Given the description of an element on the screen output the (x, y) to click on. 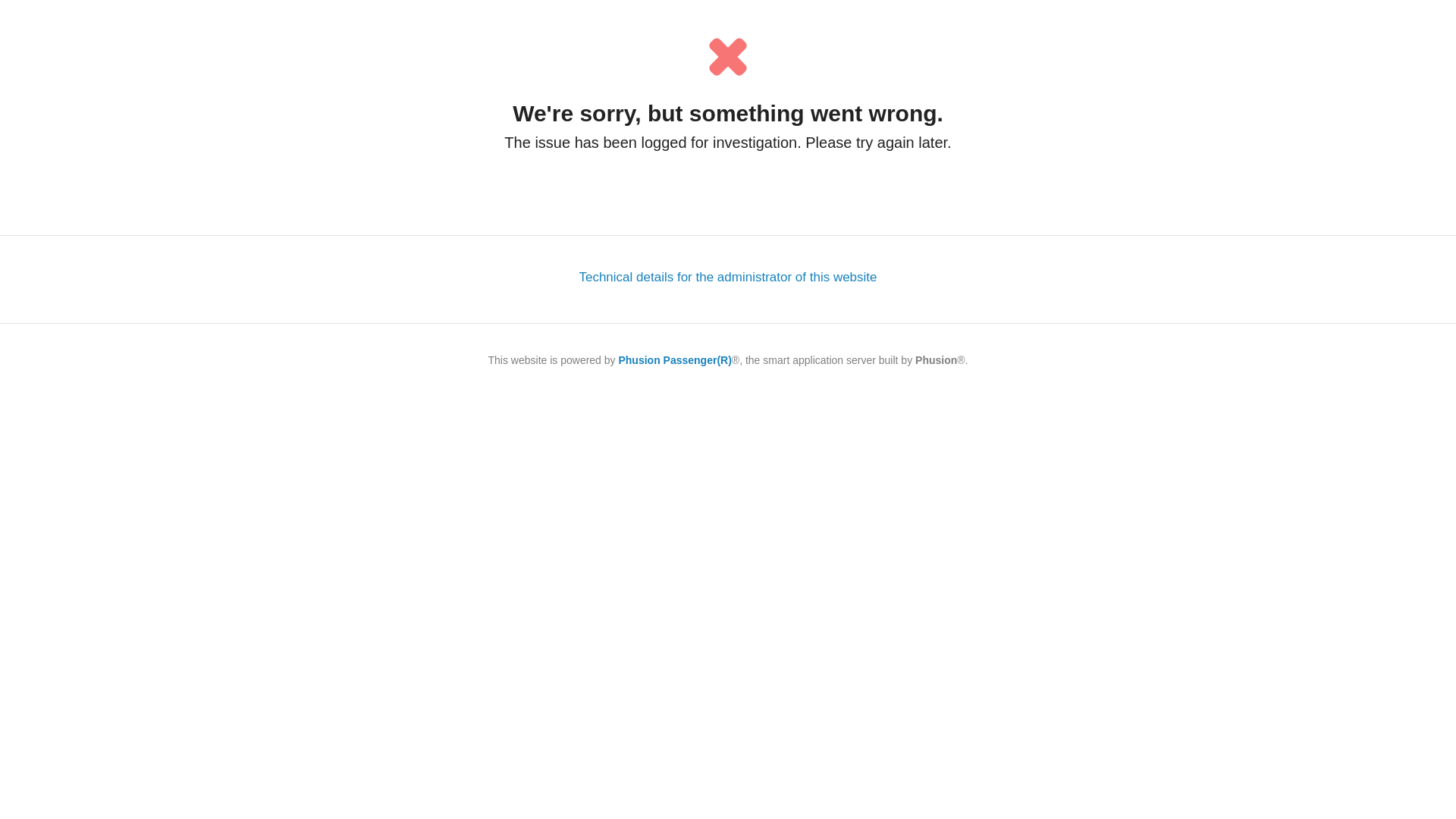
Technical details for the administrator of this website Element type: text (727, 276)
Phusion Passenger(R) Element type: text (674, 360)
